Given the description of an element on the screen output the (x, y) to click on. 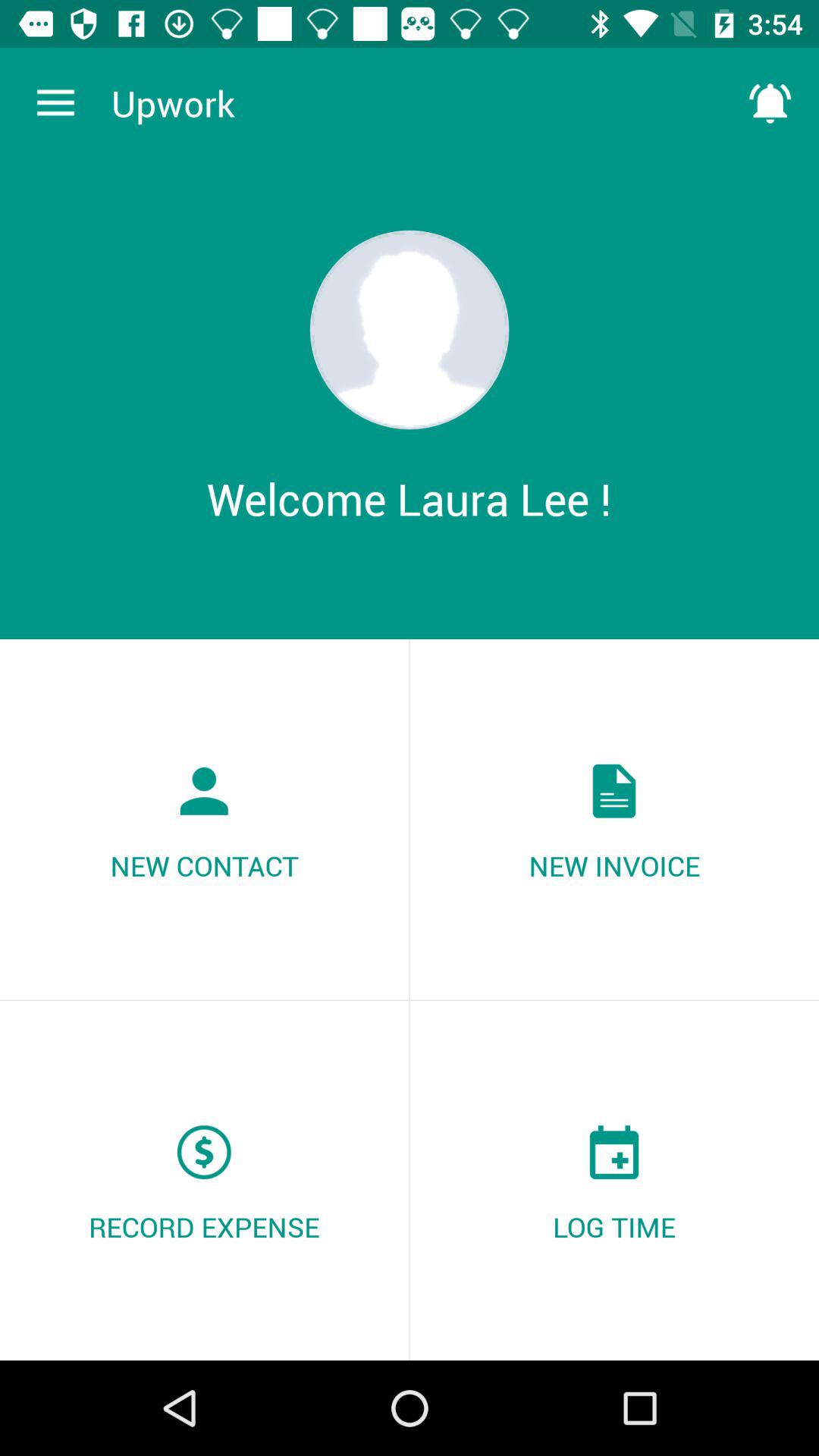
select icon above new contact (55, 103)
